Given the description of an element on the screen output the (x, y) to click on. 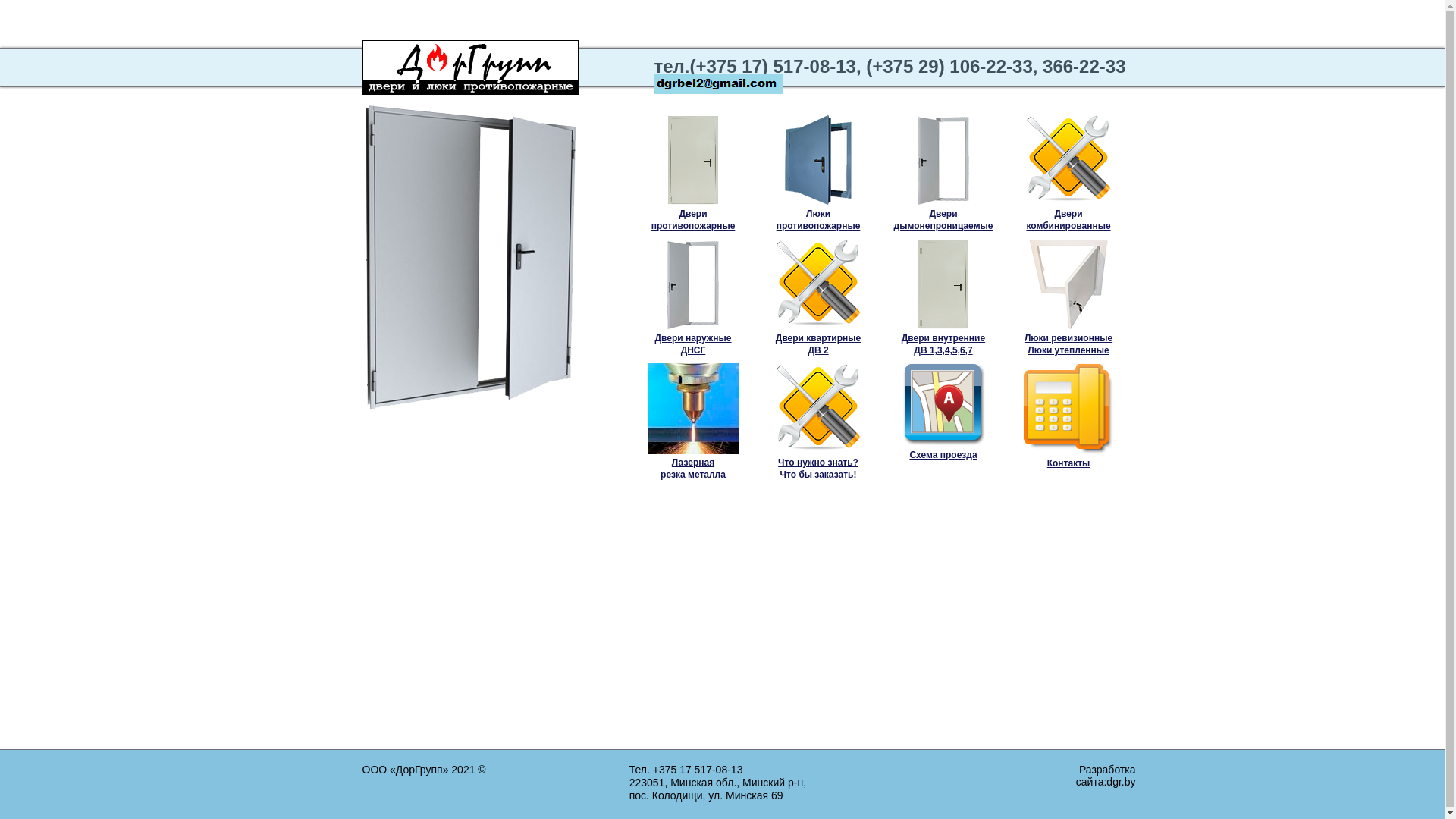
dgr.by Element type: text (1120, 781)
